Given the description of an element on the screen output the (x, y) to click on. 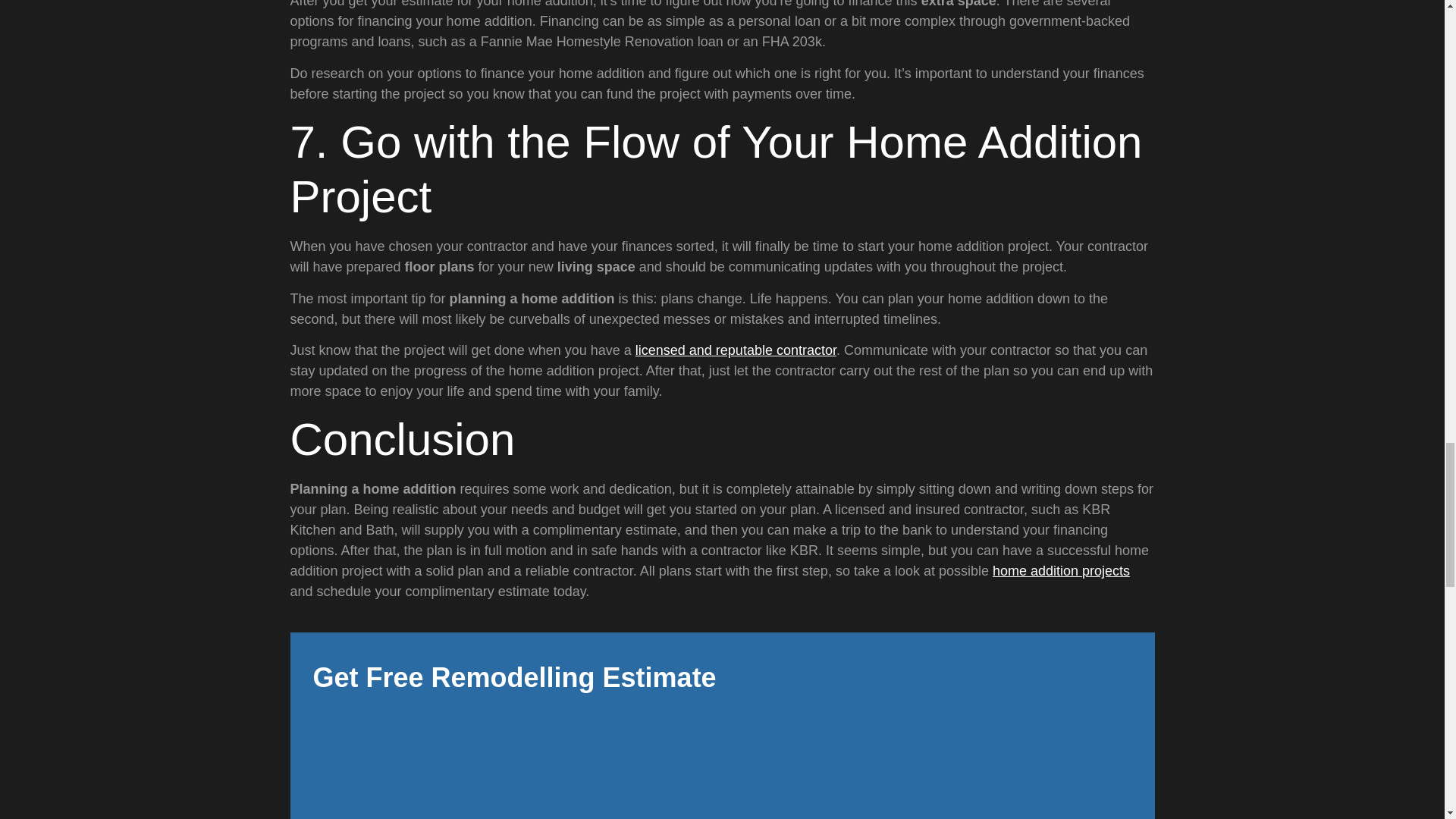
Form 0 (722, 762)
